Given the description of an element on the screen output the (x, y) to click on. 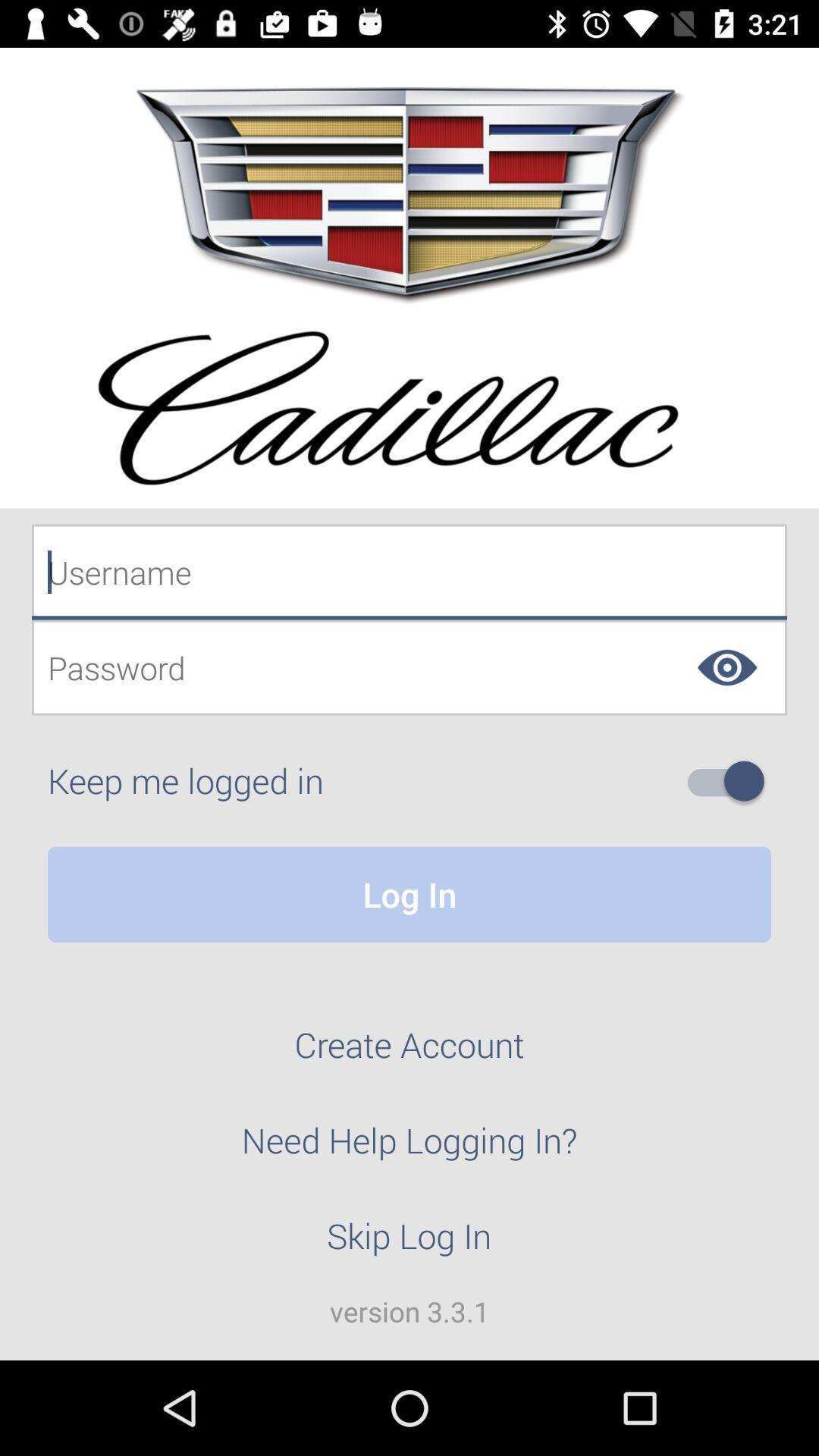
press icon next to the keep me logged item (731, 781)
